Given the description of an element on the screen output the (x, y) to click on. 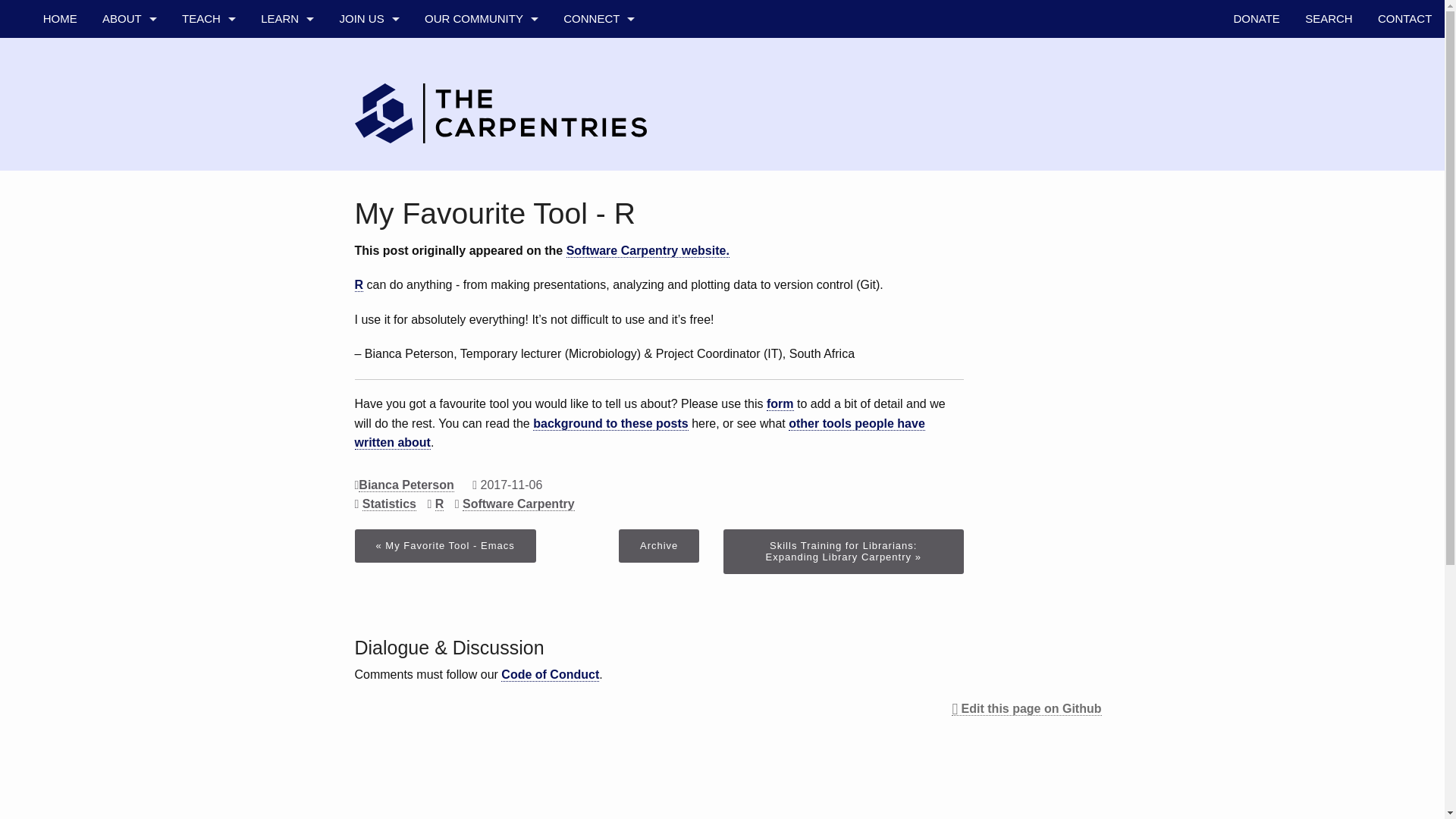
DATA CARPENTRY LESSONS (207, 94)
JOB VACANCIES (369, 208)
OUR TEAM (481, 56)
OUR IMPACT (286, 208)
DONATE (1256, 18)
SEARCH (1328, 18)
LESSON DEVELOPMENT TRAINING (207, 360)
OUR COMMUNITY (481, 18)
SUPPORTERS (128, 208)
LEARN (286, 18)
JOIN US (369, 18)
CODE OF CONDUCT (128, 132)
GET INVOLVED (369, 56)
HOME (59, 18)
ABOUT (128, 18)
